Given the description of an element on the screen output the (x, y) to click on. 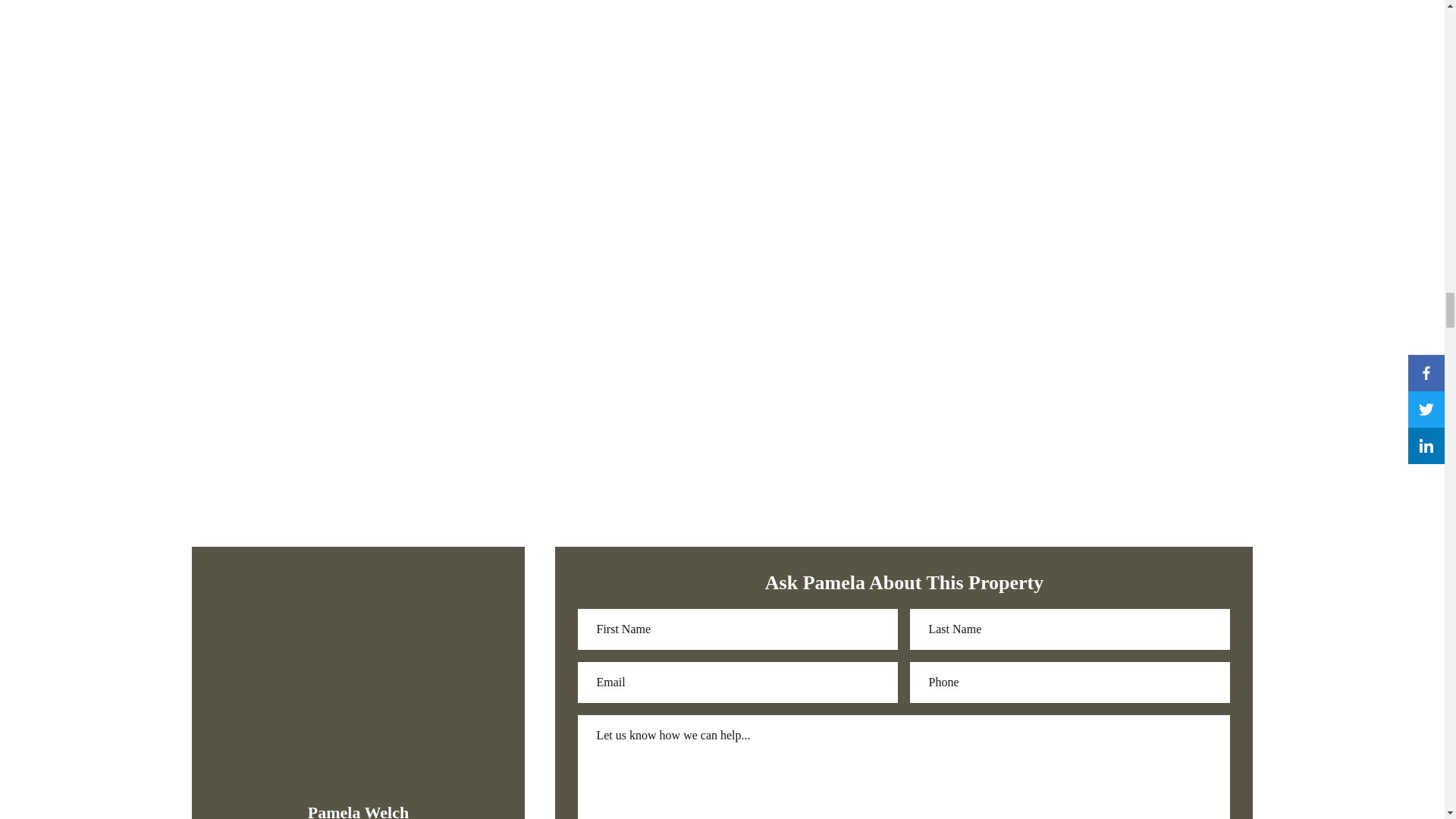
Pamela Welch (358, 811)
